Given the description of an element on the screen output the (x, y) to click on. 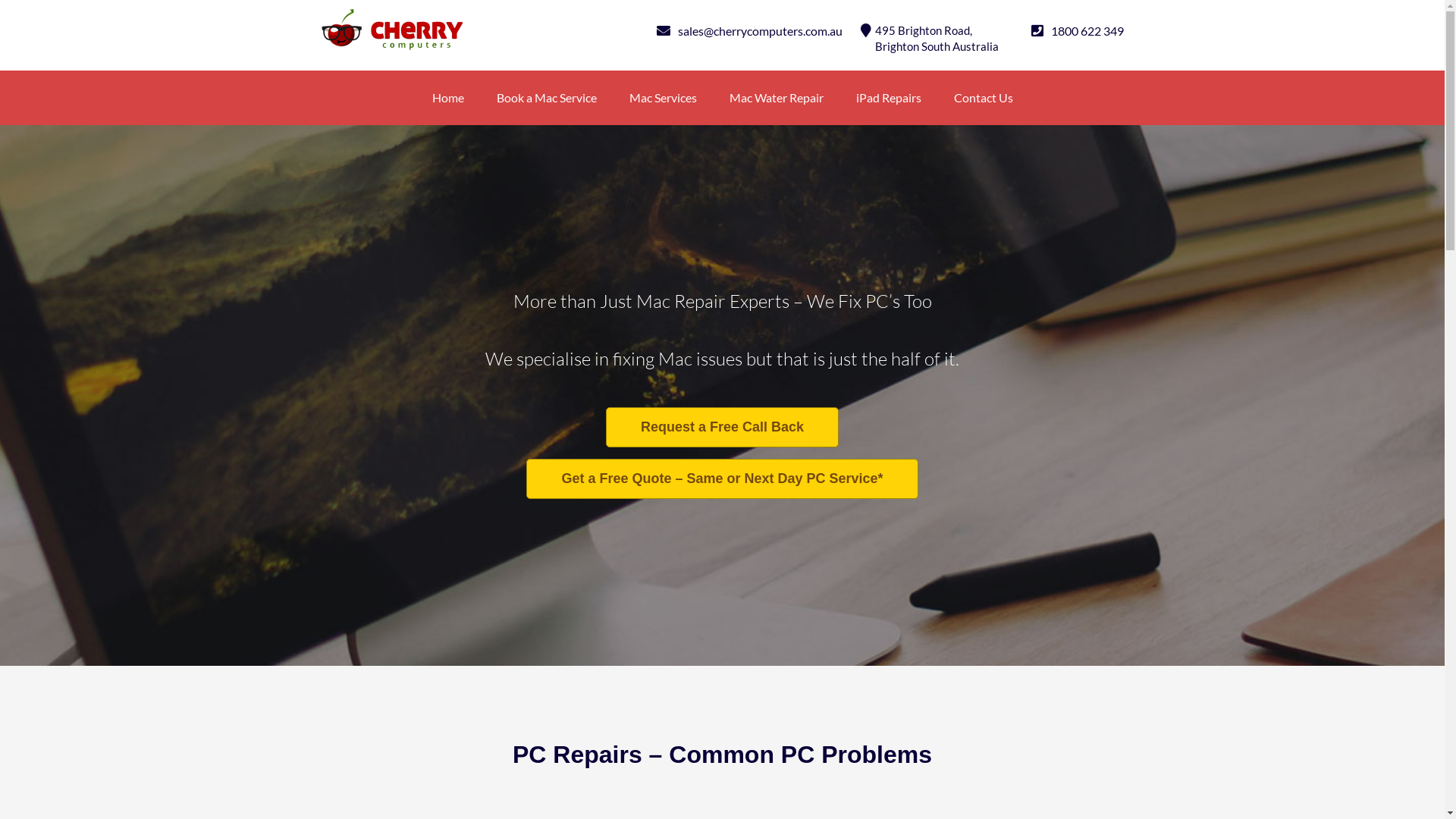
Book a Mac Service Element type: text (545, 97)
Mac Services Element type: text (662, 97)
sales@cherrycomputers.com.au Element type: text (759, 30)
1800 622 349 Element type: text (1087, 30)
Mac Water Repair Element type: text (776, 97)
Home Element type: text (448, 97)
iPad Repairs Element type: text (887, 97)
Request a Free Call Back Element type: text (721, 427)
Contact Us Element type: text (983, 97)
